Given the description of an element on the screen output the (x, y) to click on. 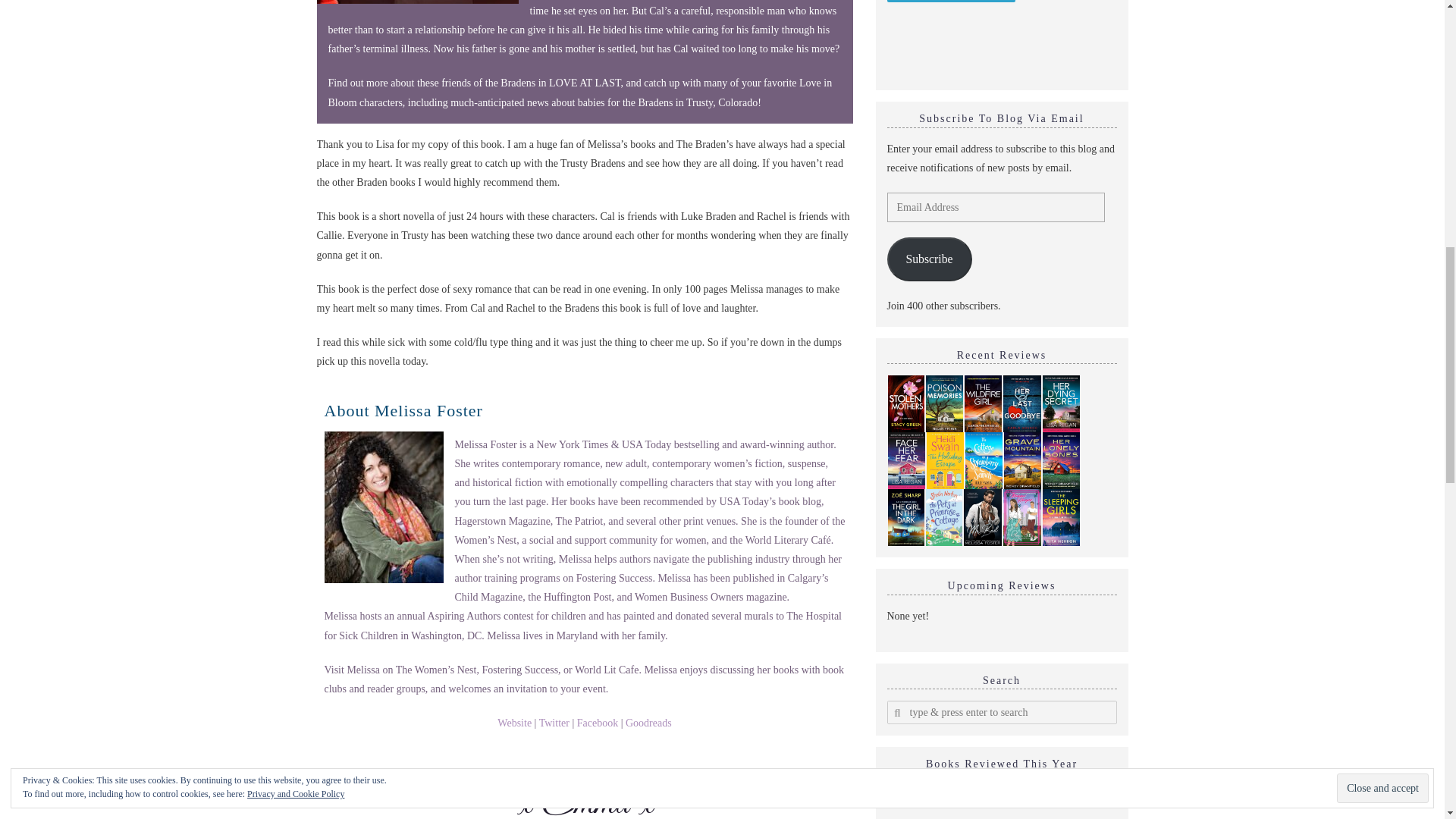
Review: Love at Last (417, 2)
Twitter (553, 722)
Facebook (596, 722)
Website (514, 722)
